Given the description of an element on the screen output the (x, y) to click on. 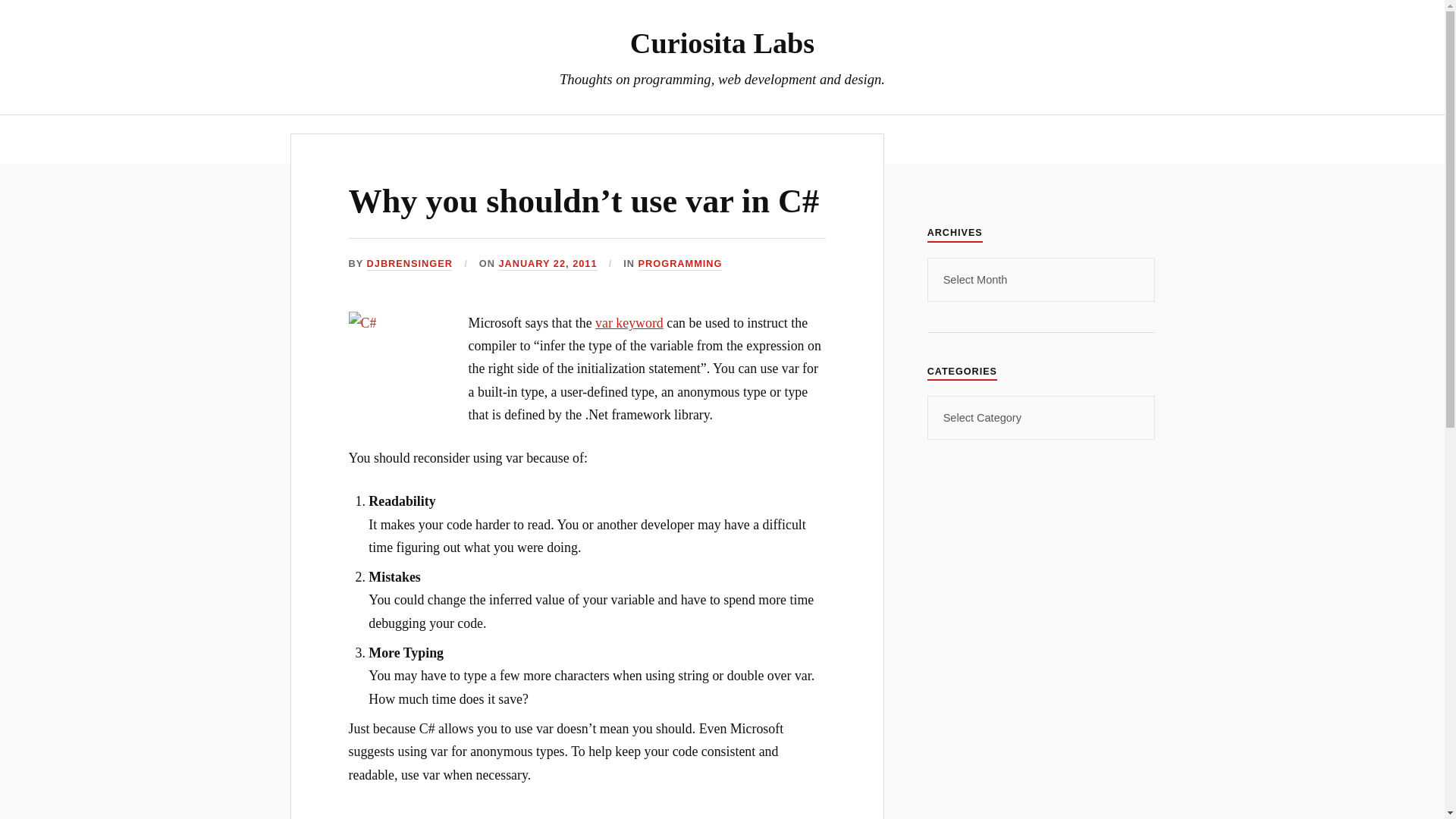
PROGRAMMING (680, 264)
Start Here (746, 138)
Posts by djbrensinger (409, 264)
DJBRENSINGER (409, 264)
var keyword (629, 322)
Curiosita Labs (721, 42)
JANUARY 22, 2011 (546, 264)
